Given the description of an element on the screen output the (x, y) to click on. 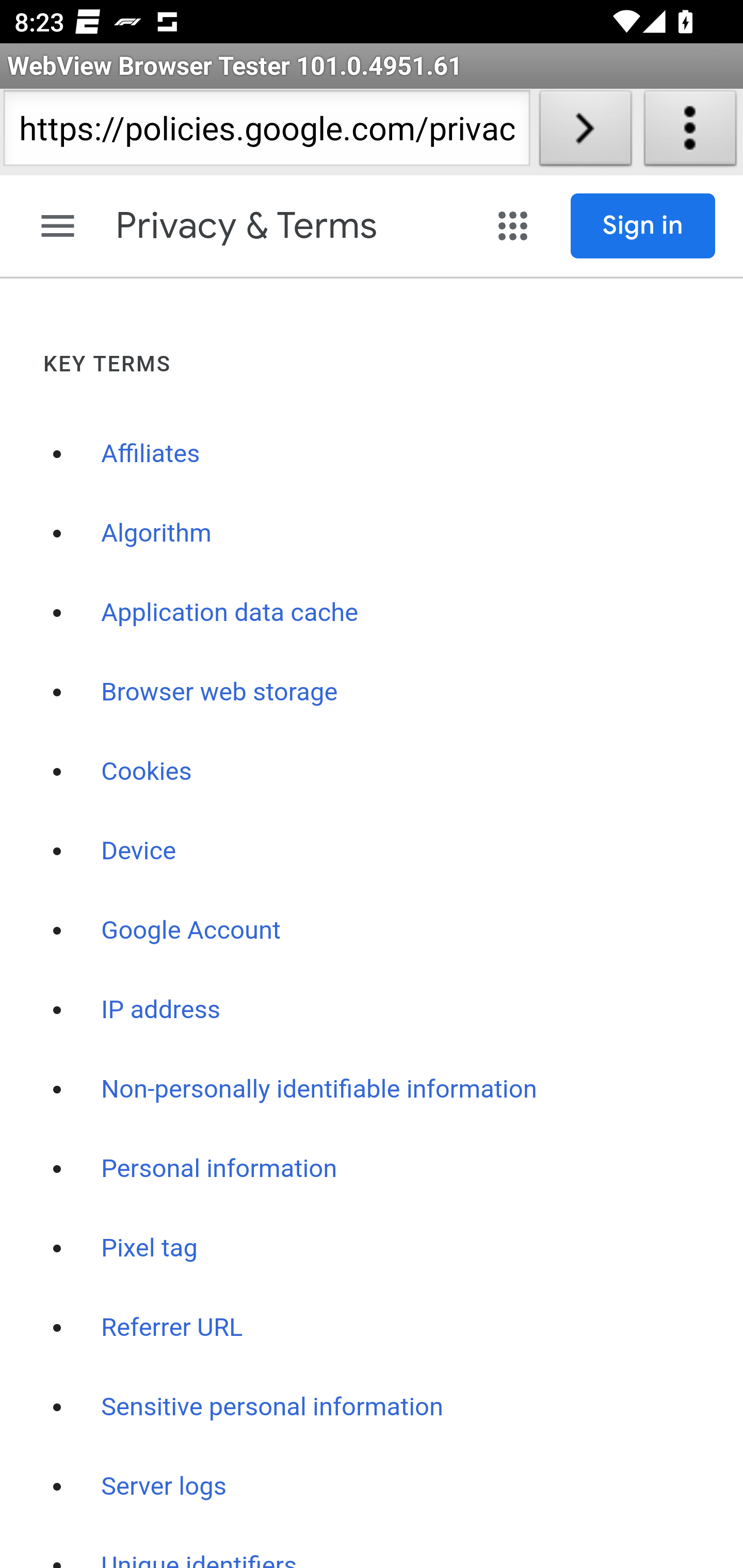
https://policies.google.com/privacy?gl=HK&hl=en (266, 132)
Load URL (585, 132)
About WebView (690, 132)
Main menu (58, 226)
Google apps (514, 226)
Sign in (643, 226)
Affiliates (150, 452)
Algorithm (157, 531)
Application data cache (229, 611)
Browser web storage (220, 691)
Cookies (147, 770)
Device (138, 850)
Google Account (191, 929)
IP address (161, 1008)
Non-personally identifiable information (319, 1088)
Personal information (219, 1167)
Pixel tag (149, 1246)
Referrer URL (172, 1326)
Sensitive personal information (272, 1406)
Server logs (164, 1485)
